Given the description of an element on the screen output the (x, y) to click on. 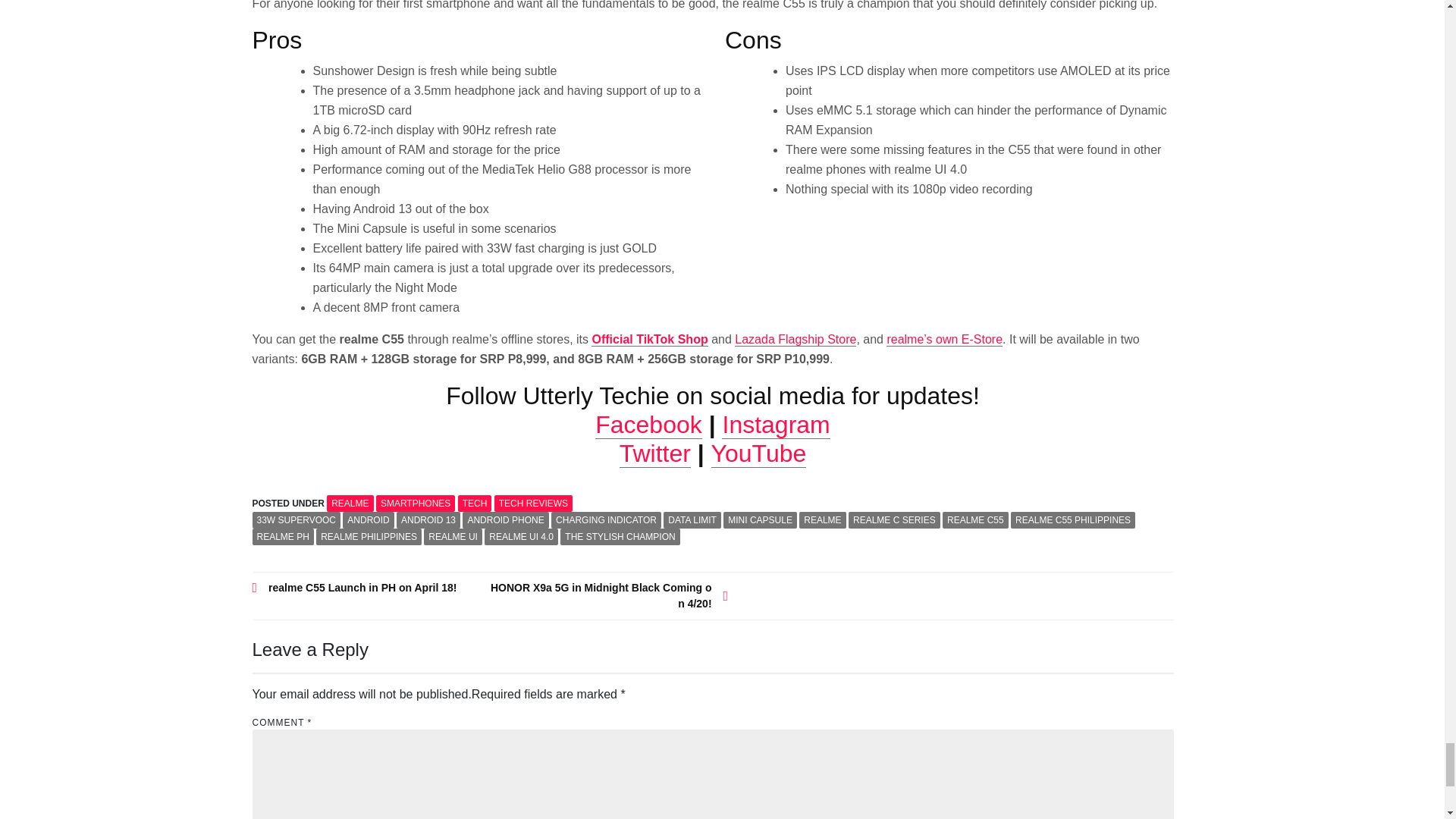
Lazada Flagship Store (795, 339)
Instagram (775, 424)
Facebook (648, 424)
Official TikTok Shop (649, 339)
YouTube (758, 453)
Twitter (655, 453)
